Given the description of an element on the screen output the (x, y) to click on. 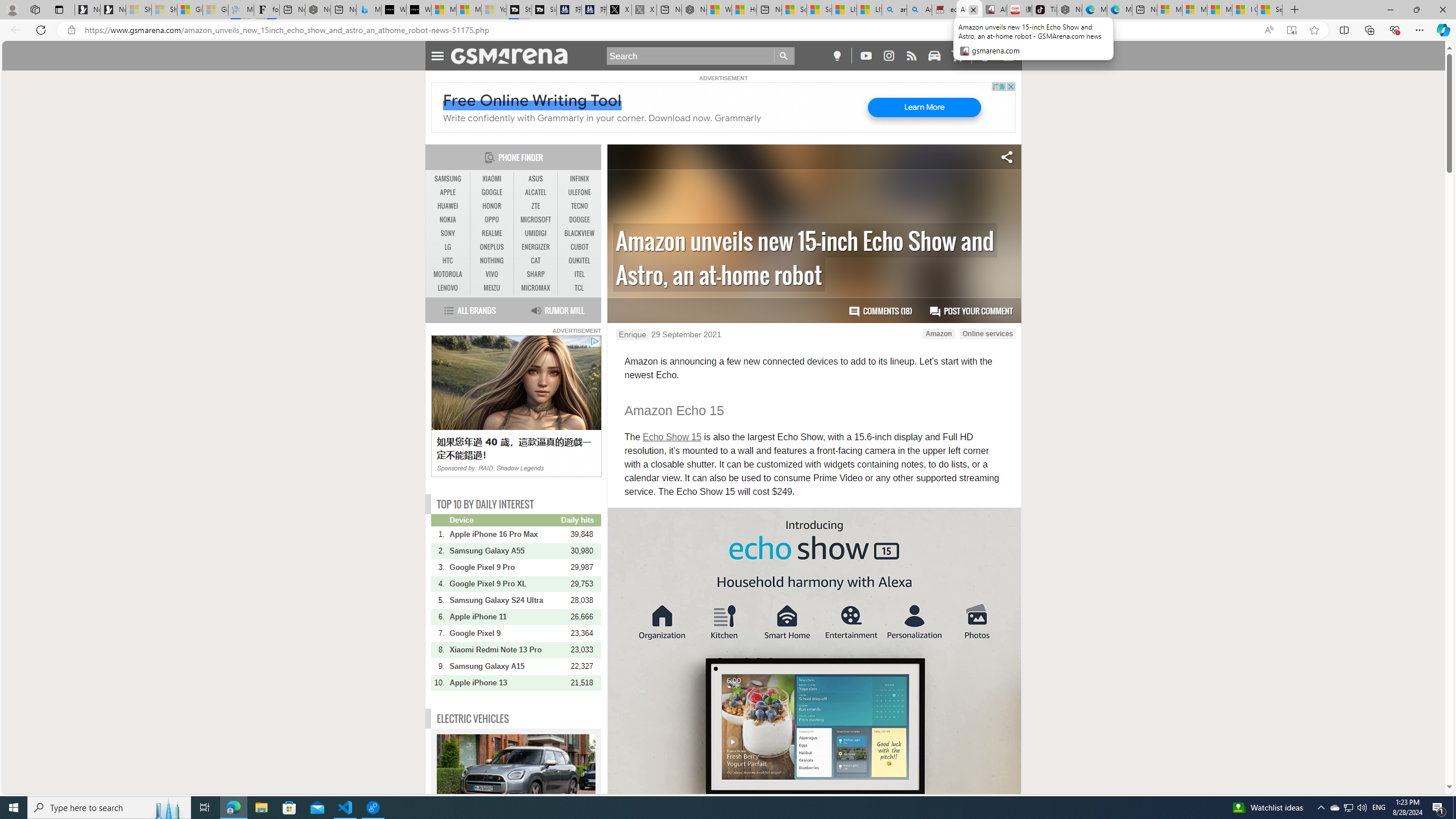
SAMSUNG (448, 178)
APPLE (448, 192)
UMIDIGI (535, 233)
Free Online Writing Tool (531, 100)
NOKIA (448, 219)
DOOGEE (579, 219)
INFINIX (579, 178)
ASUS (535, 178)
LG (448, 246)
SHARP (535, 273)
